Given the description of an element on the screen output the (x, y) to click on. 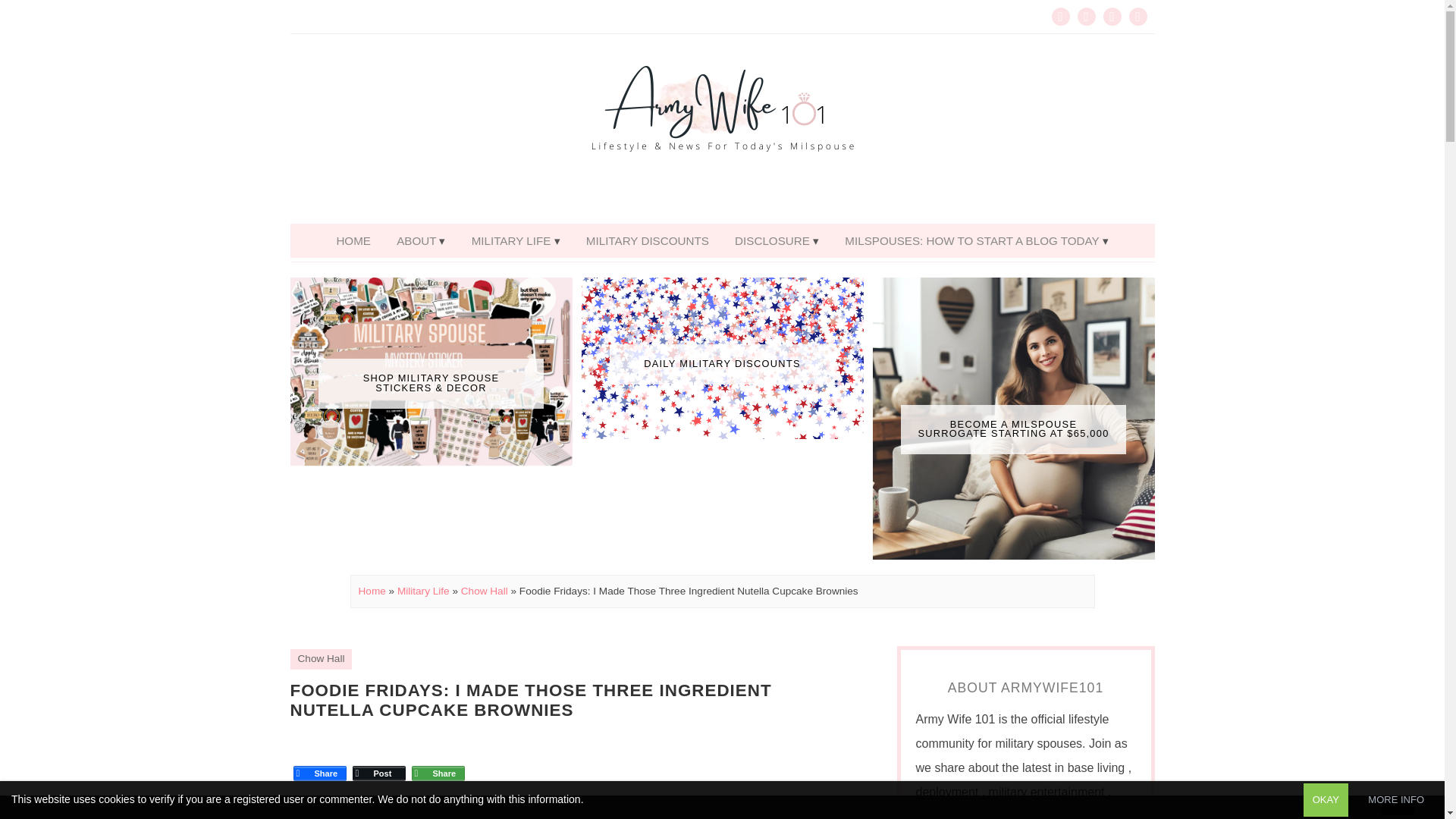
MILITARY LIFE (516, 240)
ABOUT (421, 240)
HOME (352, 240)
More Options (437, 759)
DISCLOSURE (776, 240)
MILSPOUSES: HOW TO START A BLOG TODAY (975, 240)
Facebook (319, 759)
MILITARY DISCOUNTS (647, 240)
